Given the description of an element on the screen output the (x, y) to click on. 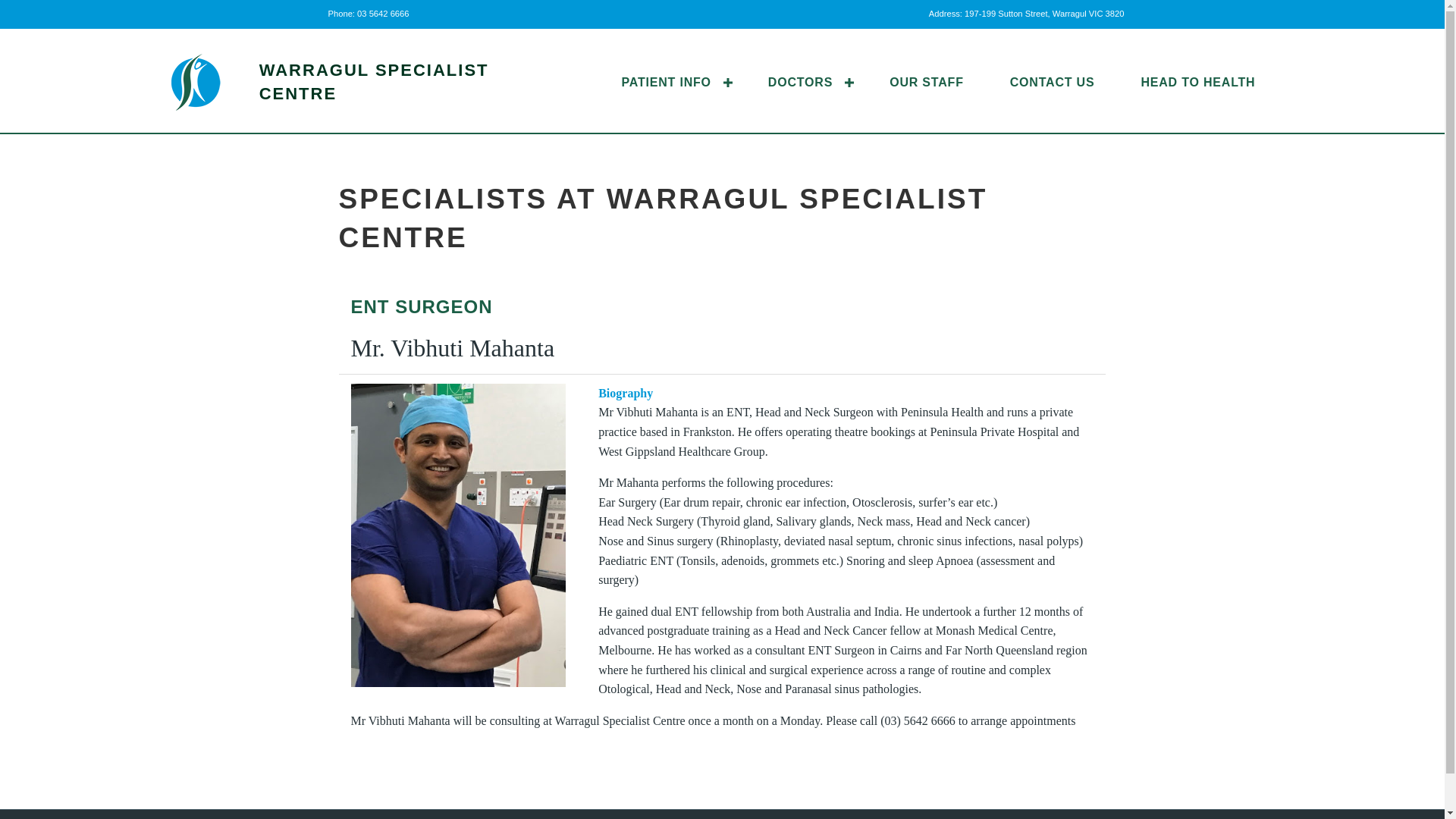
WARRAGUL SPECIALIST CENTRE (374, 81)
03 5642 6666 (382, 13)
OUR STAFF (926, 82)
Specialists at Warragul Specialist Centre (662, 218)
HEAD TO HEALTH (1198, 82)
DOCTORS (805, 82)
CONTACT US (1052, 82)
SPECIALISTS AT WARRAGUL SPECIALIST CENTRE (662, 218)
warragul-specialist-centre-logo-header (195, 82)
PATIENT INFO (671, 82)
Warragul Specialist Centre (374, 81)
